Given the description of an element on the screen output the (x, y) to click on. 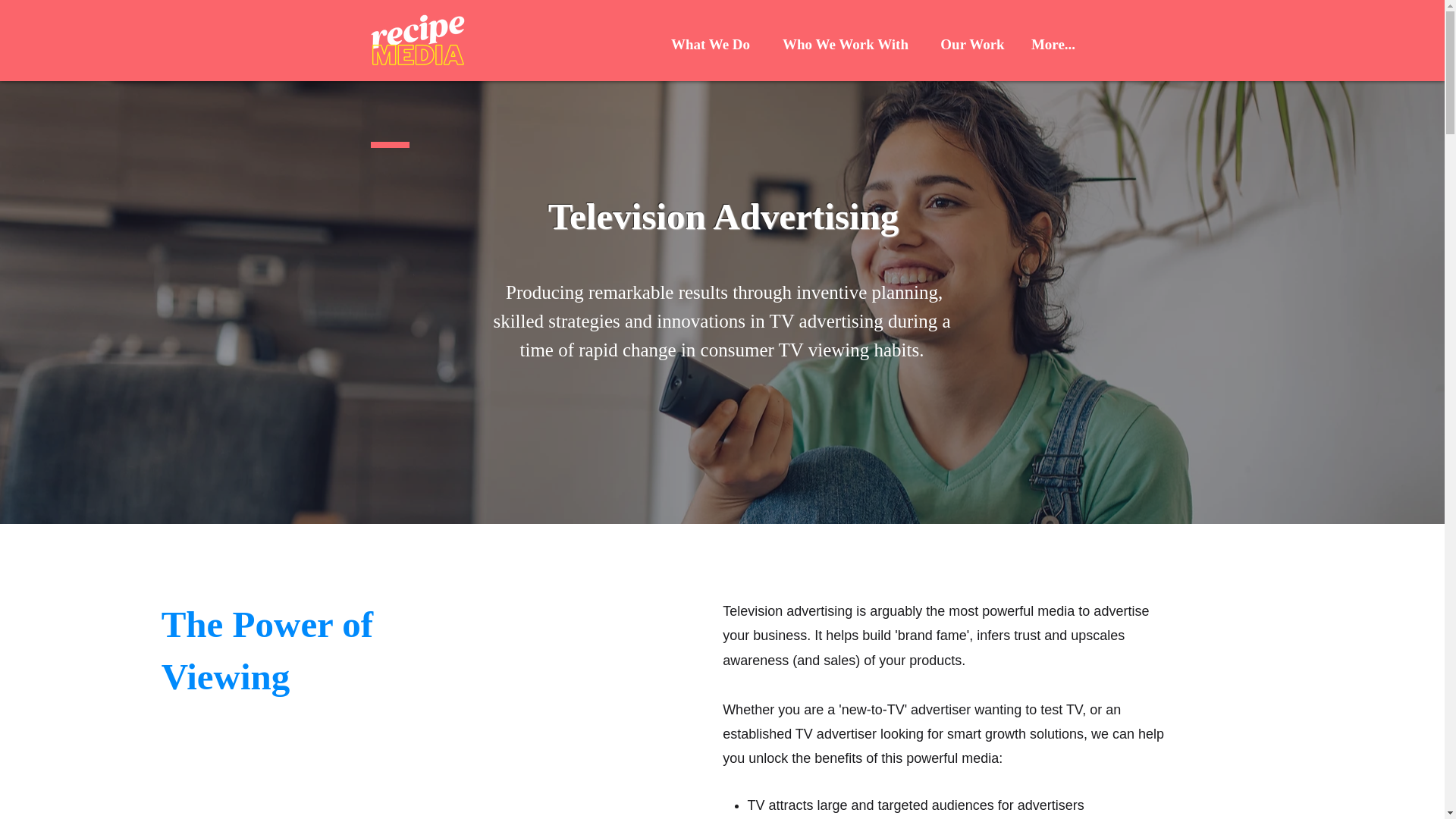
Our Work (971, 44)
